Given the description of an element on the screen output the (x, y) to click on. 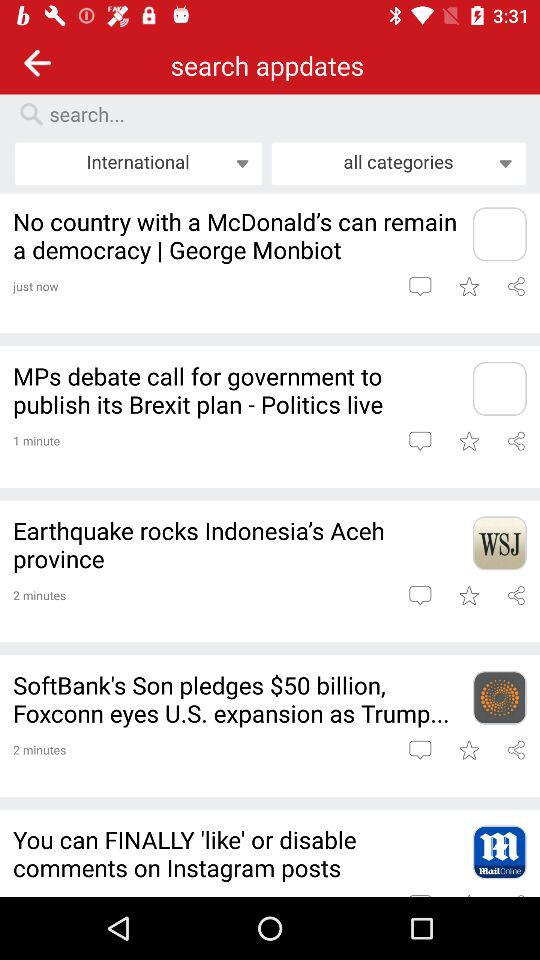
comment on article (419, 749)
